Given the description of an element on the screen output the (x, y) to click on. 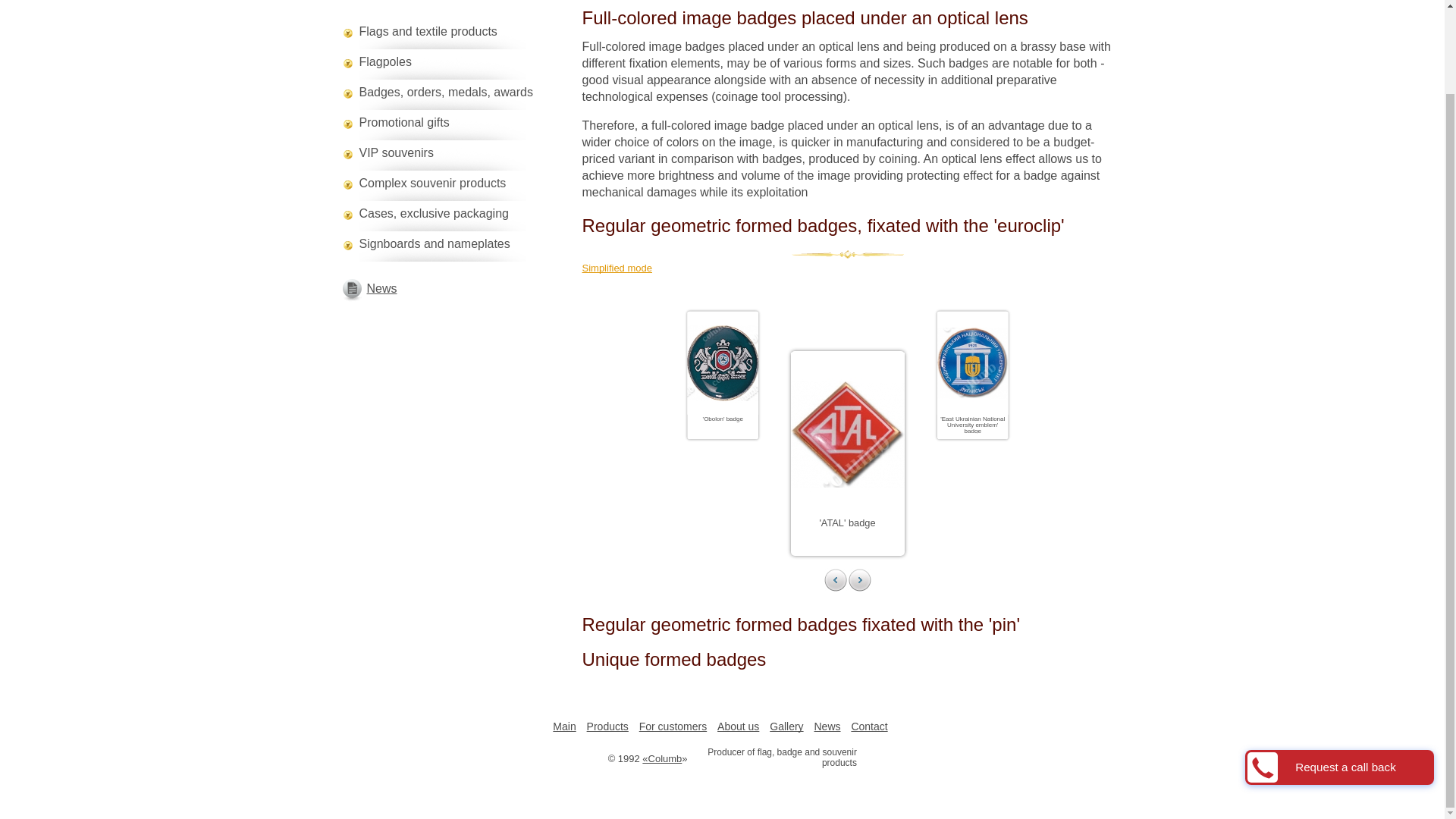
Simplified mode (847, 268)
'East Ukrainian National University emblem' badge (991, 429)
'Obolon' badge (734, 419)
Regular geometric formed badges, fixated with the 'euroclip' (847, 225)
'ATAL' badge (846, 522)
